Given the description of an element on the screen output the (x, y) to click on. 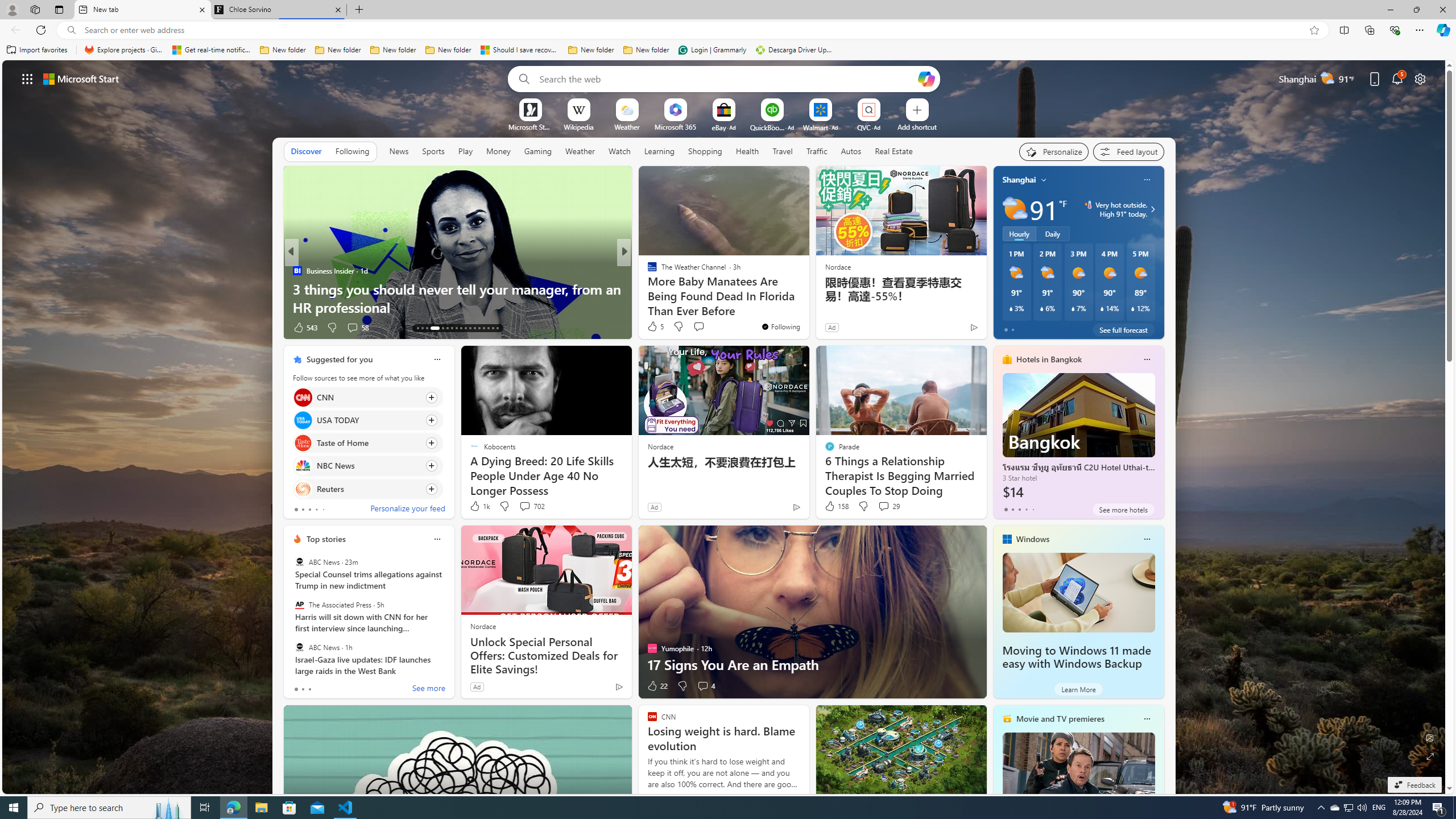
Microsoft Start Gaming (529, 126)
269 Like (654, 327)
View comments 4 Comment (705, 685)
AutomationID: tab-15 (426, 328)
Yumophile (647, 288)
tab-2 (309, 689)
ABC News (299, 646)
New folder (646, 49)
Partly sunny (1014, 208)
View comments 2 Comment (702, 327)
